Given the description of an element on the screen output the (x, y) to click on. 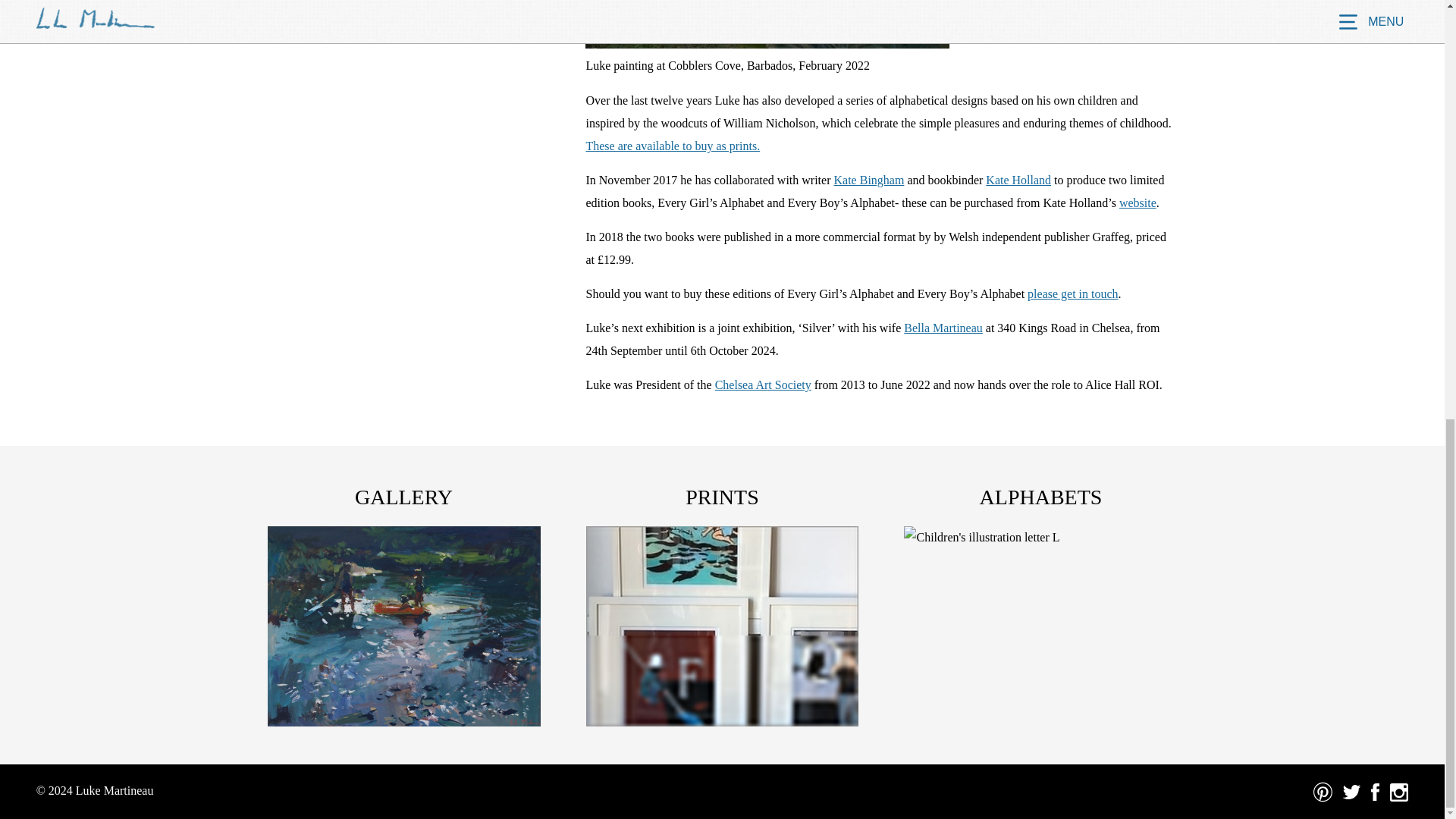
Bella Martineau (943, 327)
please get in touch (1072, 293)
Kate Bingham (869, 179)
ALPHABETS (1040, 497)
Chelsea Art Society (762, 384)
These are available to buy as prints. (672, 145)
website (1137, 202)
PRINTS (722, 497)
Kate Holland (1018, 179)
GALLERY (403, 497)
